Given the description of an element on the screen output the (x, y) to click on. 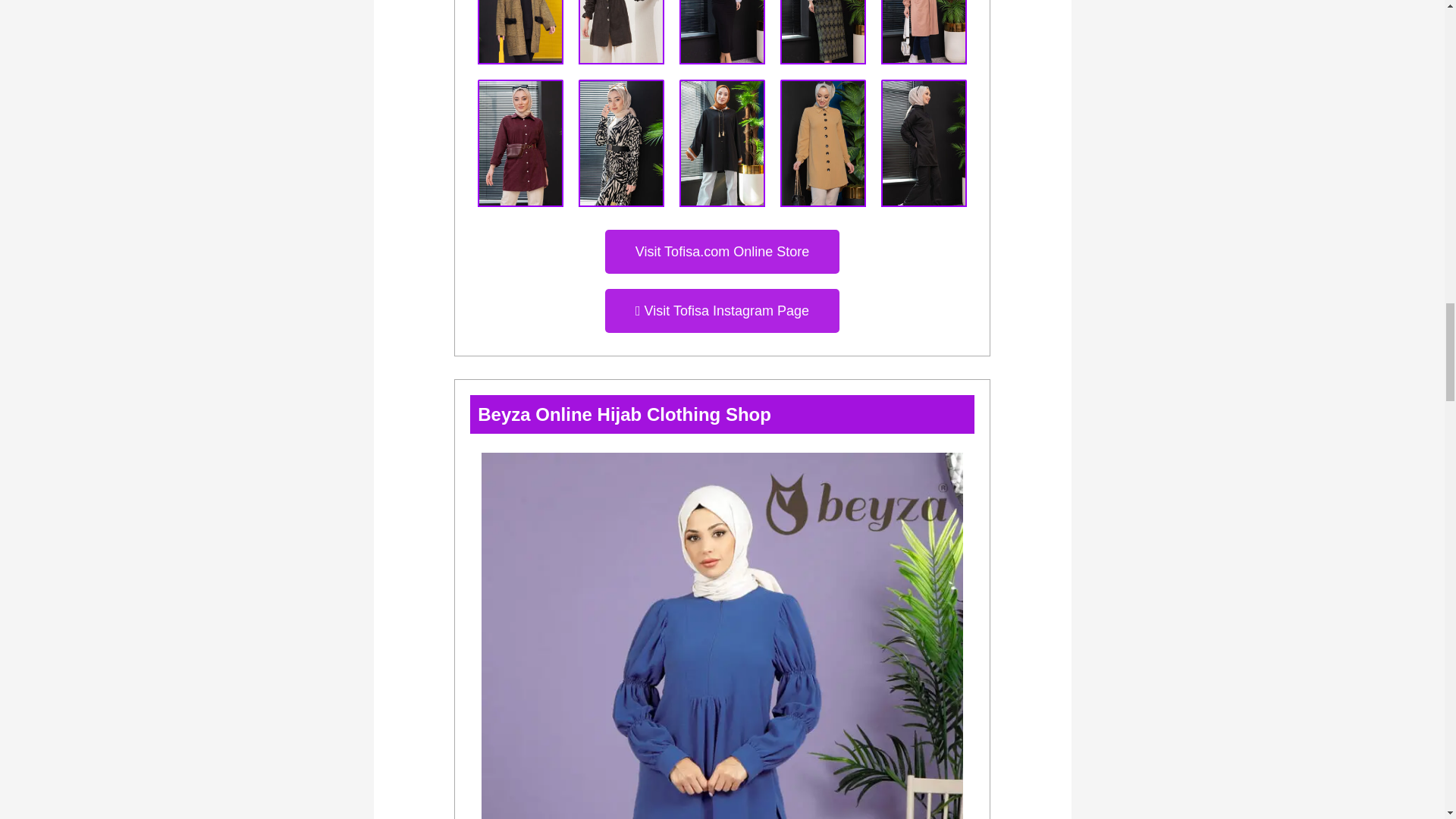
10 Best Turkish Hijab Fashion Brands to Shop Online 44 (620, 32)
10 Best Turkish Hijab Fashion Brands to Shop Online 43 (520, 32)
